Given the description of an element on the screen output the (x, y) to click on. 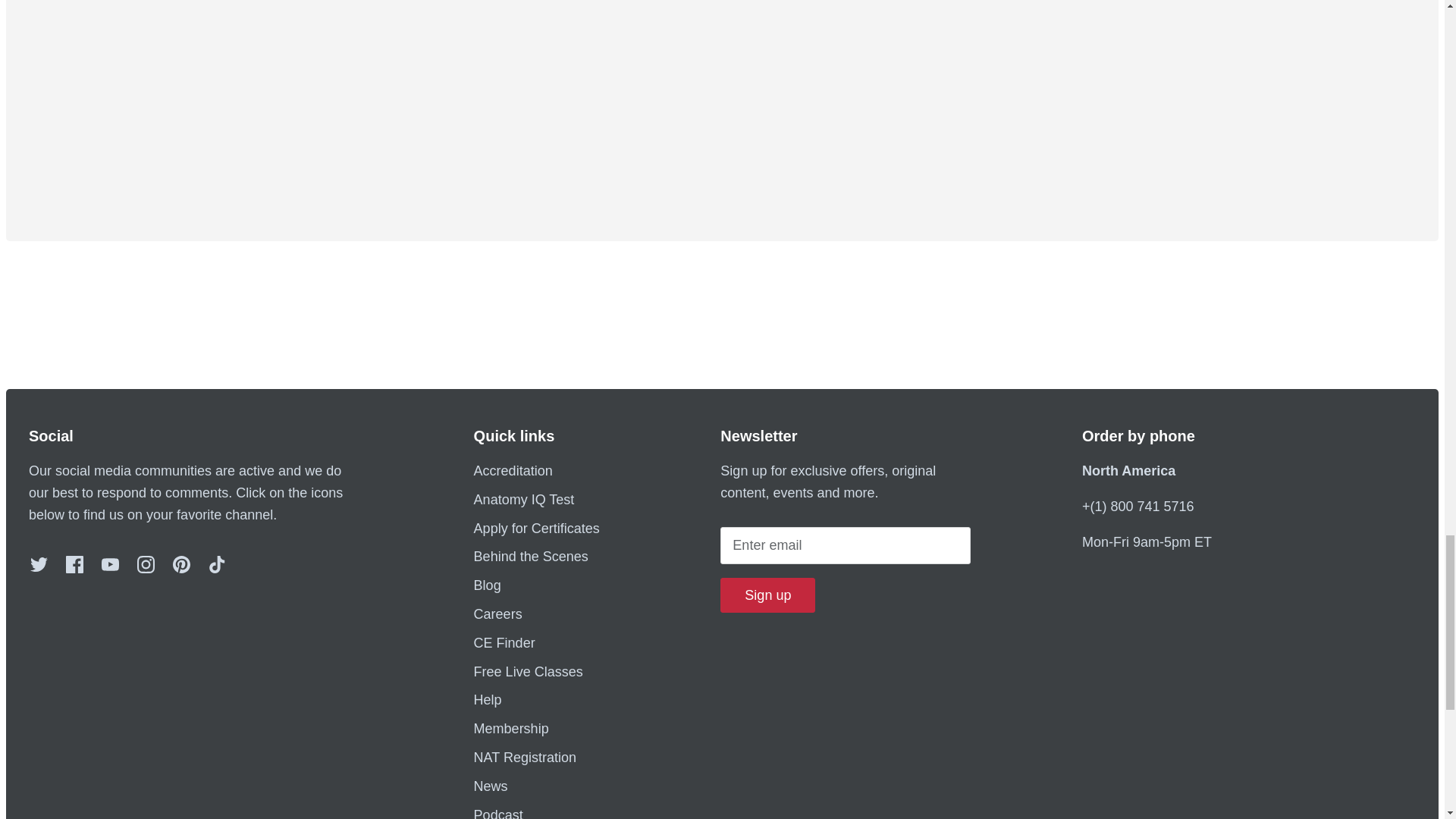
Pinterest (181, 564)
Facebook (73, 564)
Instagram (145, 564)
Youtube (110, 564)
Twitter (39, 564)
